Given the description of an element on the screen output the (x, y) to click on. 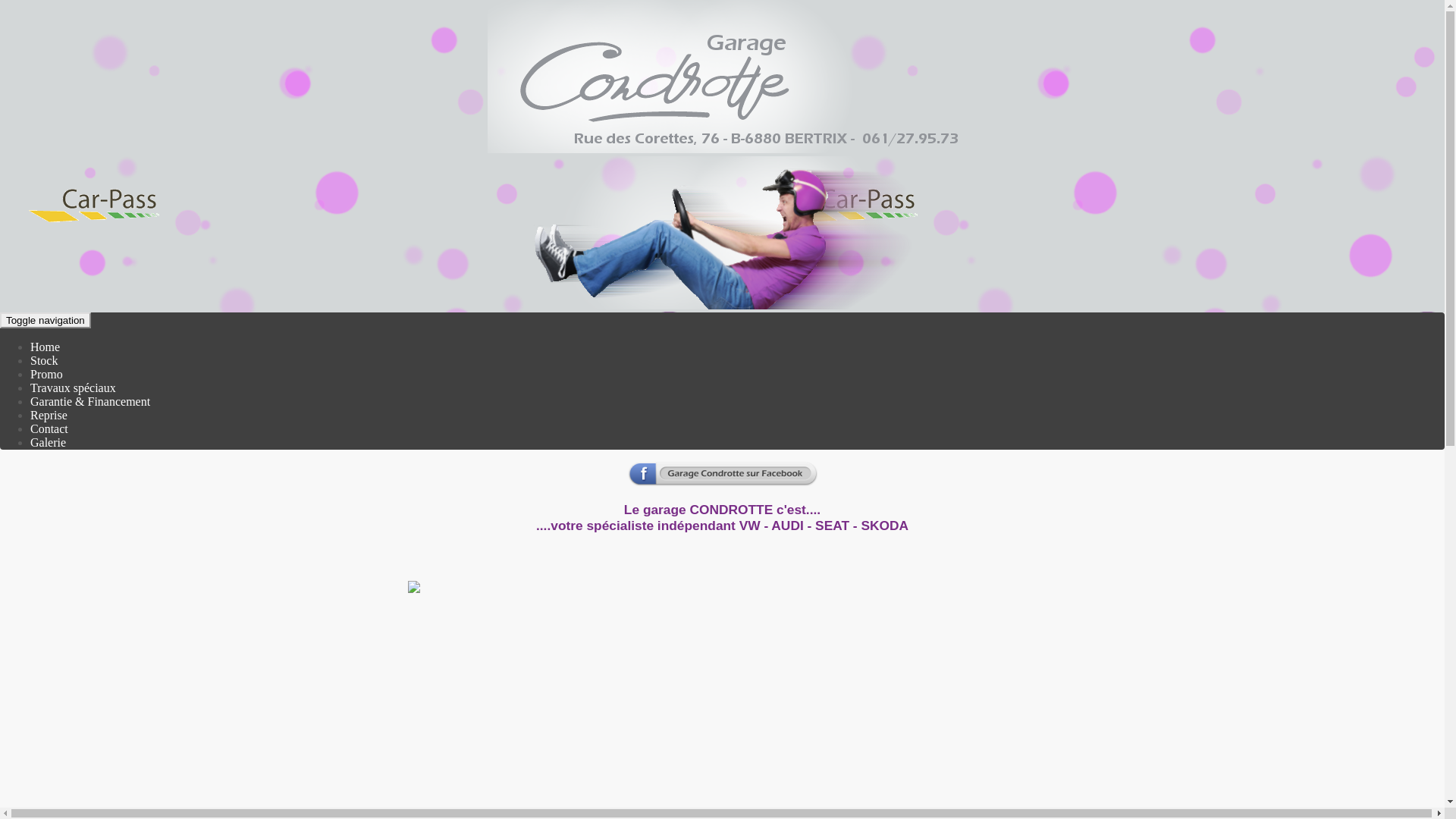
accueil_img2 Element type: hover (451, 586)
Contact Element type: text (49, 428)
Stock Element type: text (43, 360)
Galerie Element type: text (47, 442)
Promo Element type: text (46, 373)
Home Element type: text (44, 346)
Toggle navigation Element type: text (45, 320)
Reprise Element type: text (48, 414)
Garantie & Financement Element type: text (90, 401)
